Given the description of an element on the screen output the (x, y) to click on. 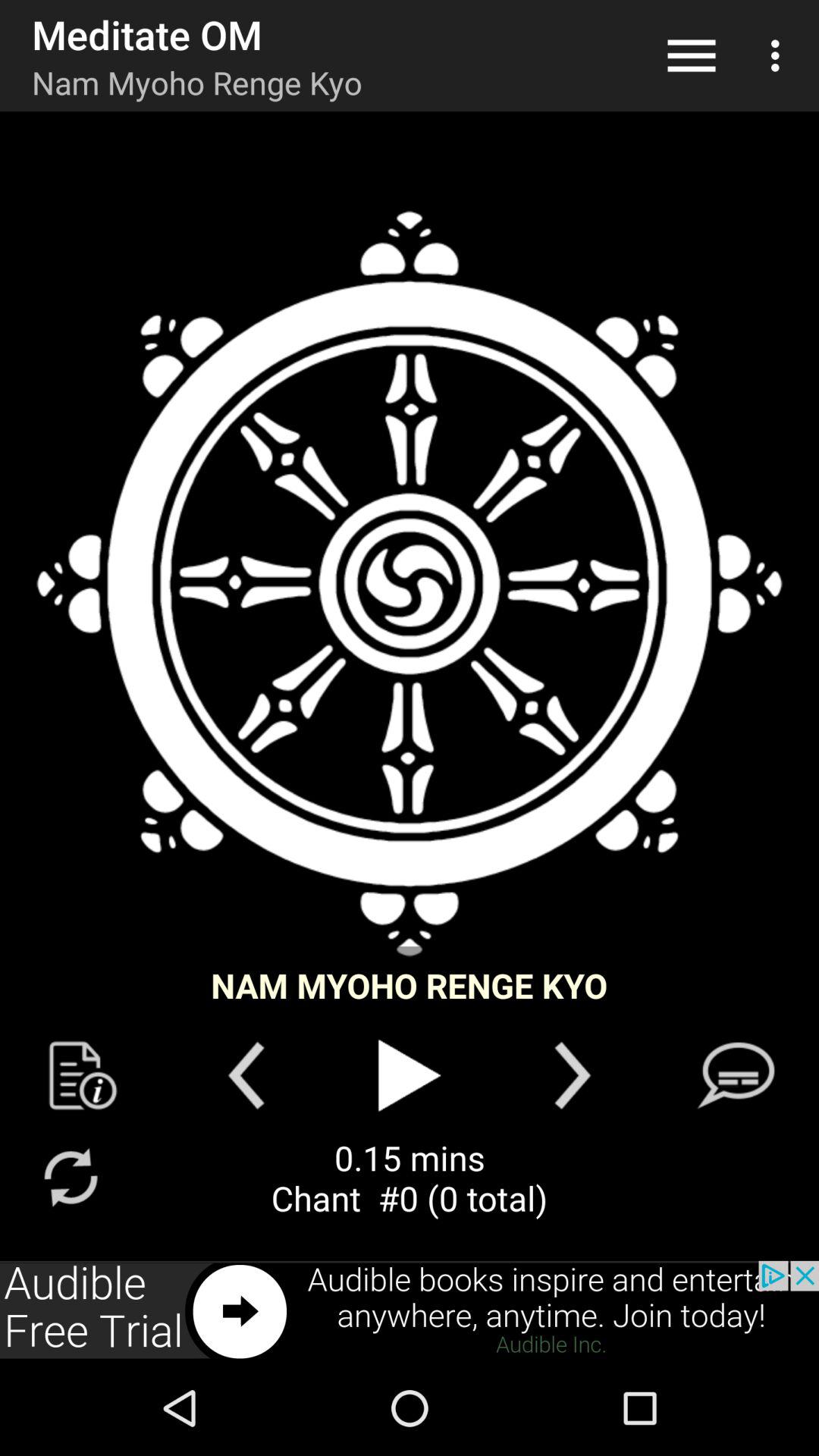
go back (246, 1075)
